Given the description of an element on the screen output the (x, y) to click on. 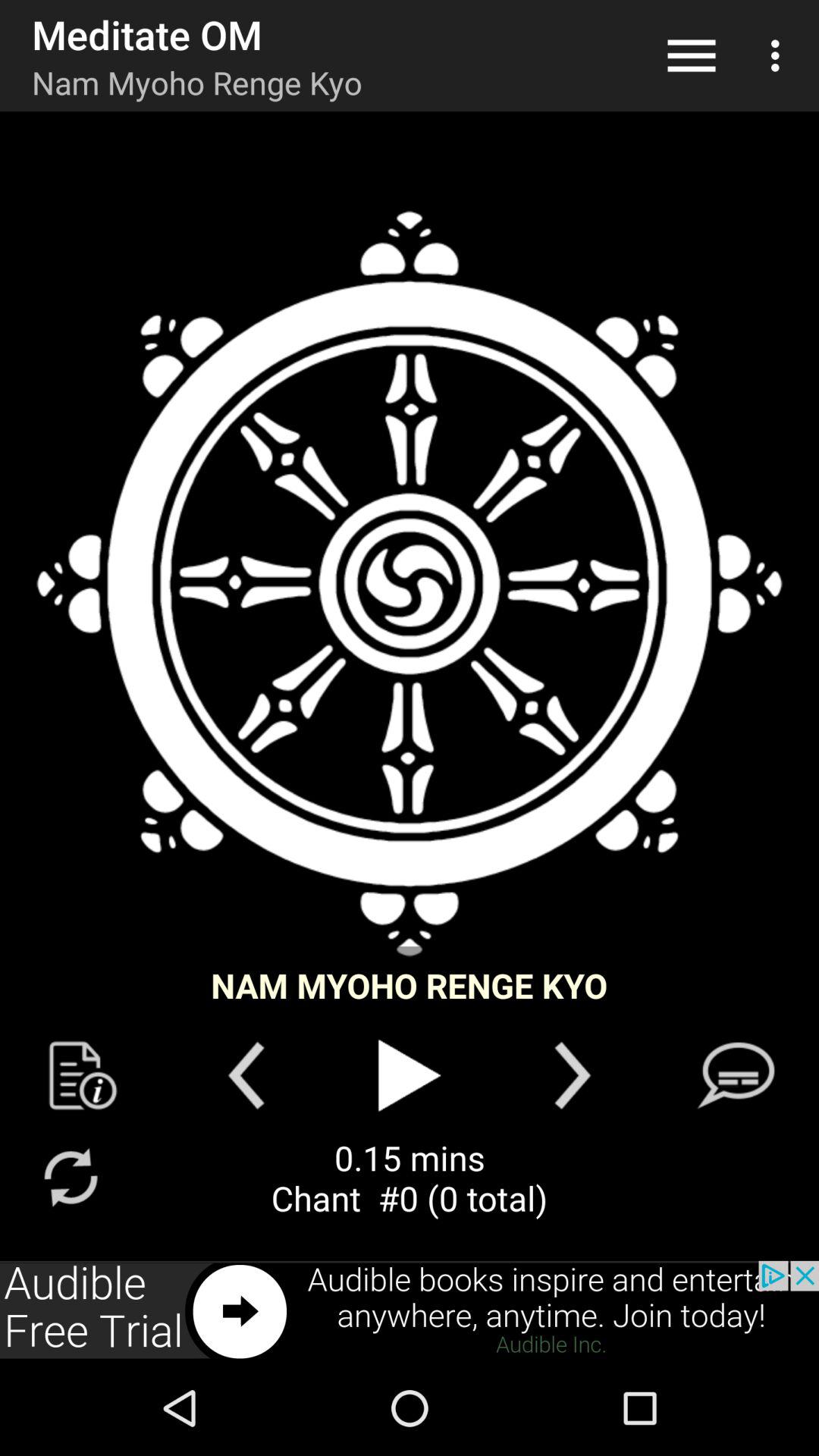
go back (246, 1075)
